Given the description of an element on the screen output the (x, y) to click on. 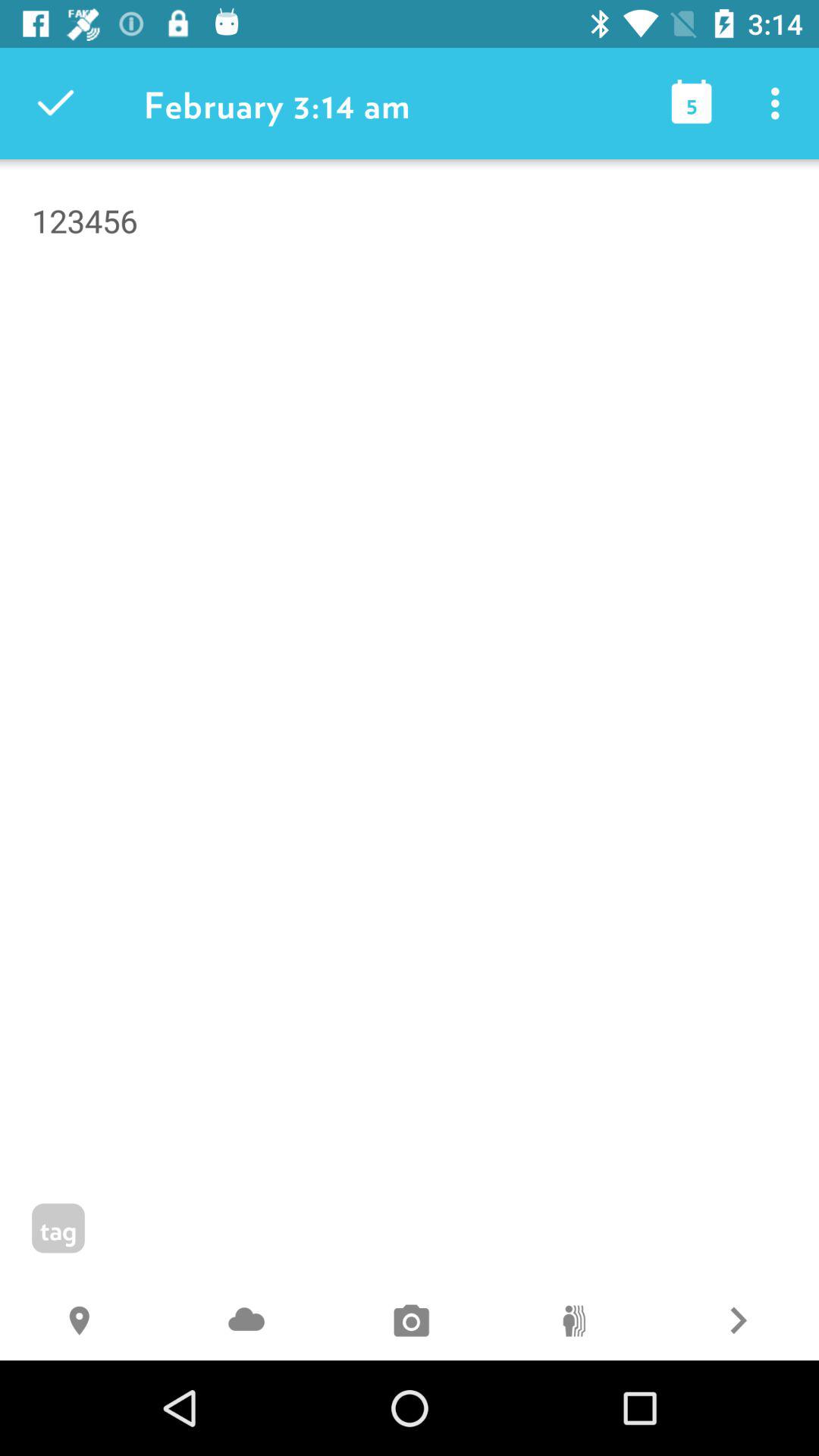
flip until the 123456 (409, 300)
